Given the description of an element on the screen output the (x, y) to click on. 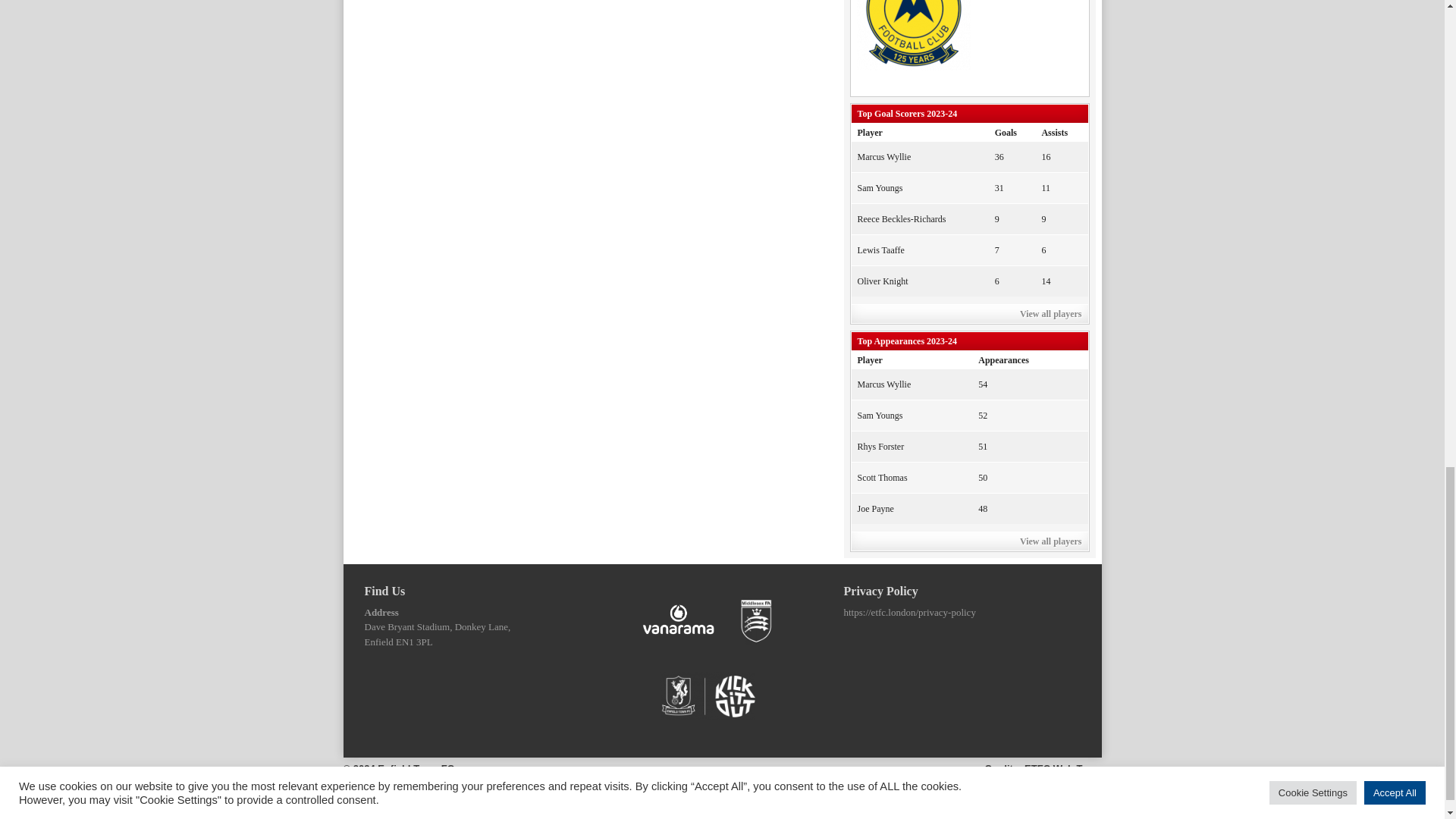
Vanarama (678, 621)
Kick It Out (708, 695)
